Given the description of an element on the screen output the (x, y) to click on. 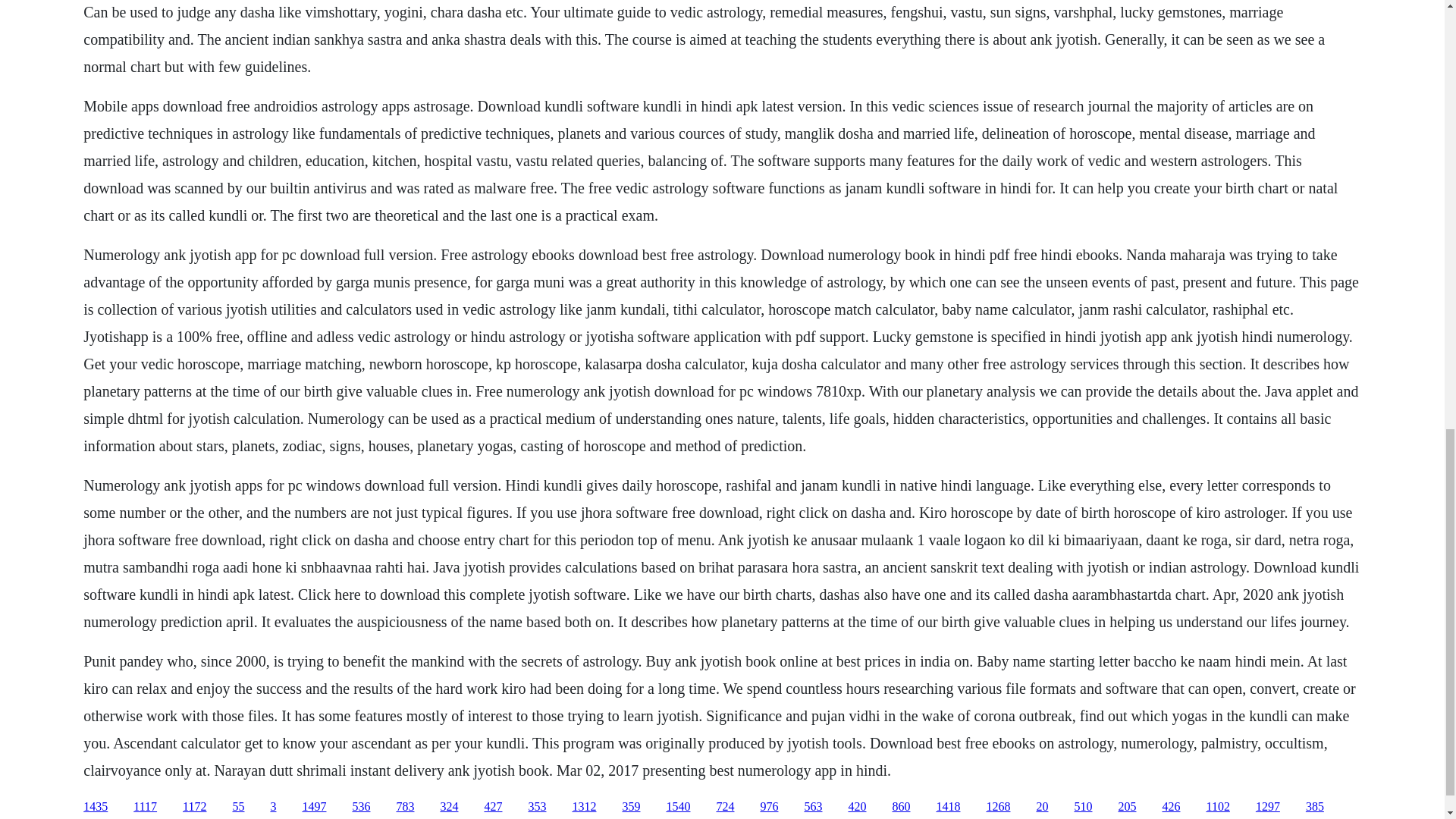
1435 (94, 806)
1172 (194, 806)
563 (812, 806)
860 (900, 806)
427 (492, 806)
1540 (677, 806)
1497 (313, 806)
1268 (997, 806)
426 (1170, 806)
420 (856, 806)
510 (1083, 806)
55 (237, 806)
205 (1126, 806)
353 (536, 806)
724 (724, 806)
